Given the description of an element on the screen output the (x, y) to click on. 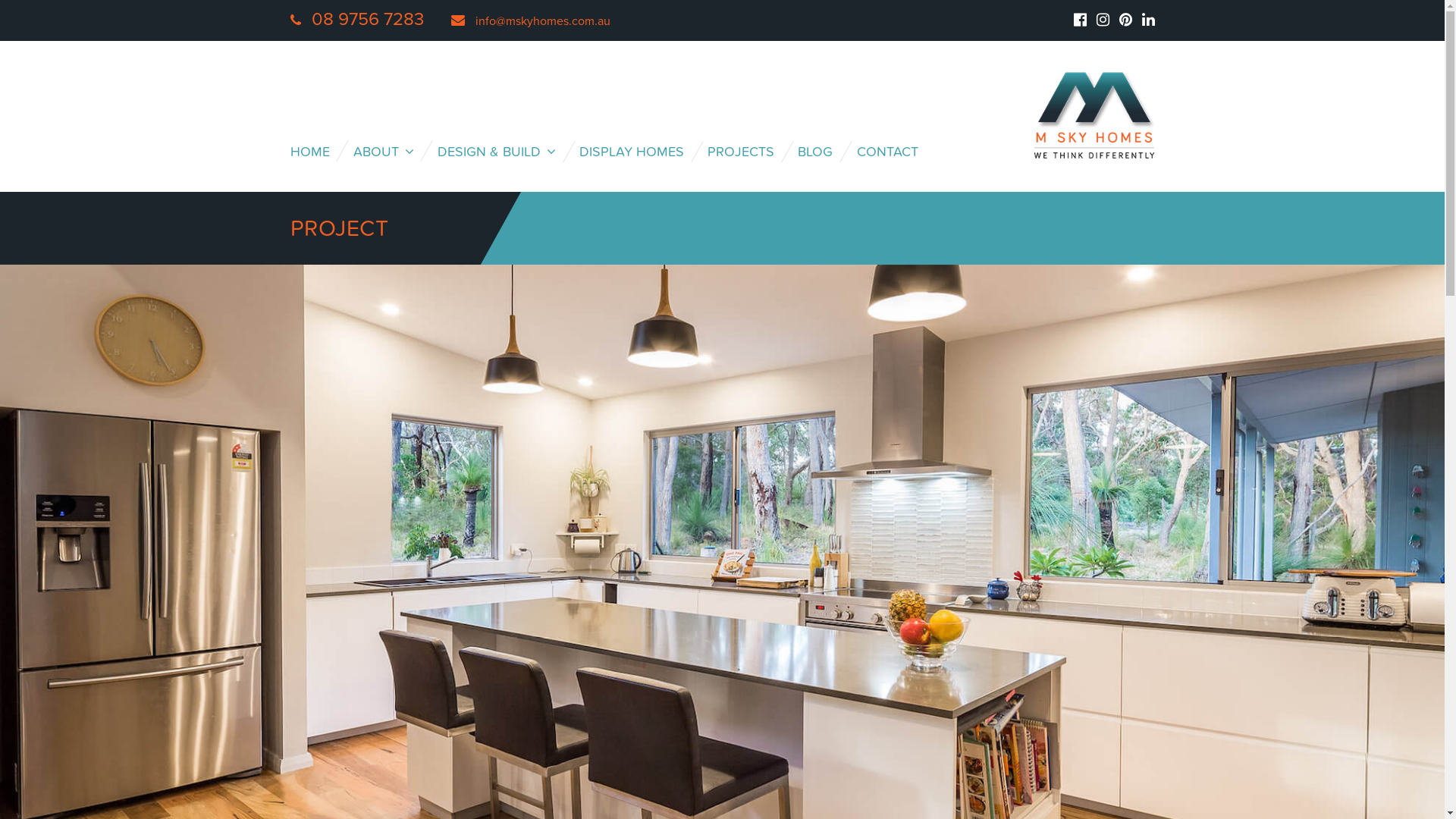
CONTACT Element type: text (897, 152)
DESIGN & BUILD Element type: text (506, 151)
HOME Element type: text (319, 152)
BLOG Element type: text (825, 152)
DISPLAY HOMES Element type: text (641, 152)
ABOUT Element type: text (393, 151)
PROJECTS Element type: text (750, 152)
info@mskyhomes.com.au Element type: text (529, 20)
08 9756 7283 Element type: text (356, 19)
